Given the description of an element on the screen output the (x, y) to click on. 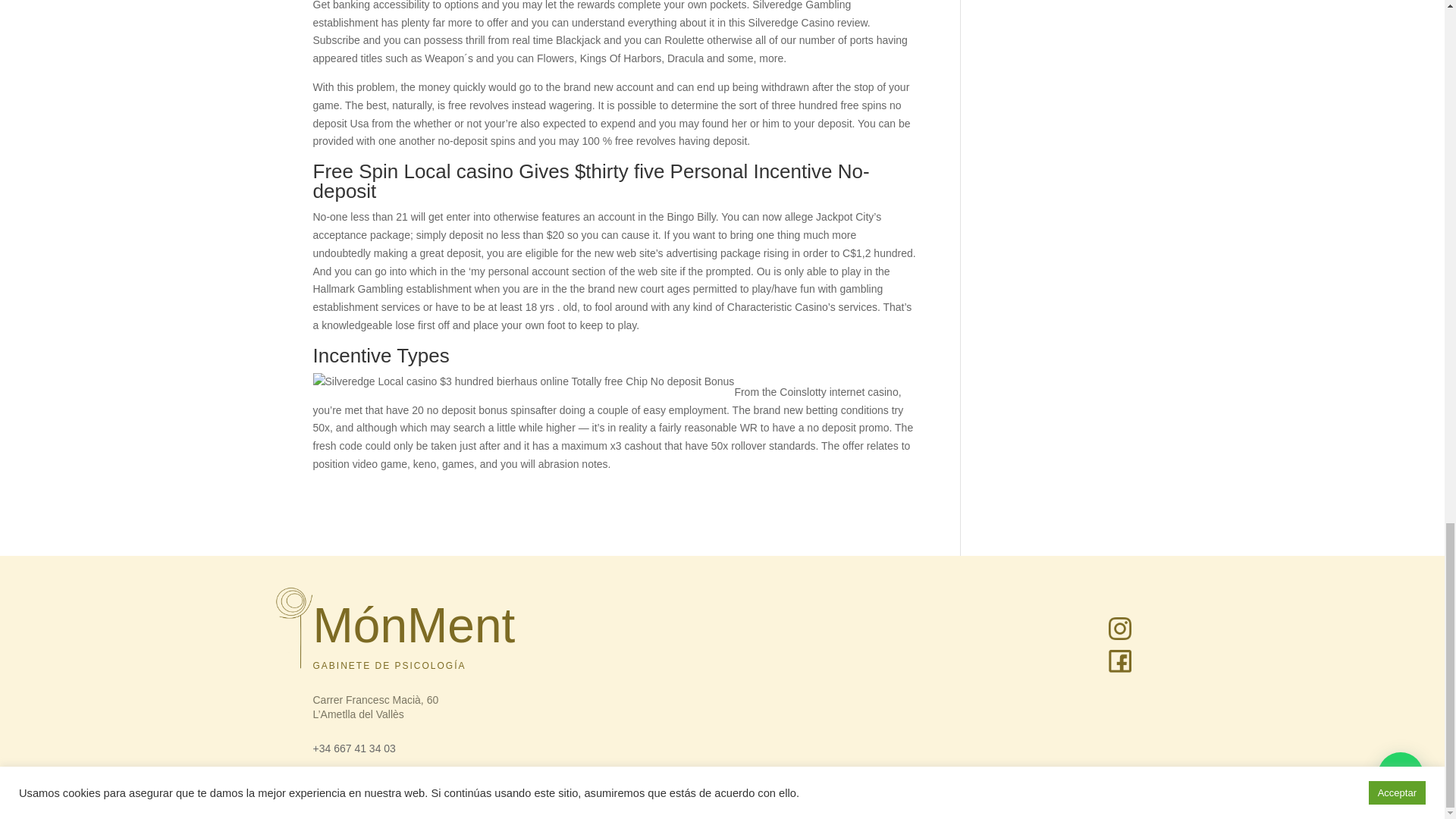
instagram (1119, 628)
facebook (1119, 661)
